Given the description of an element on the screen output the (x, y) to click on. 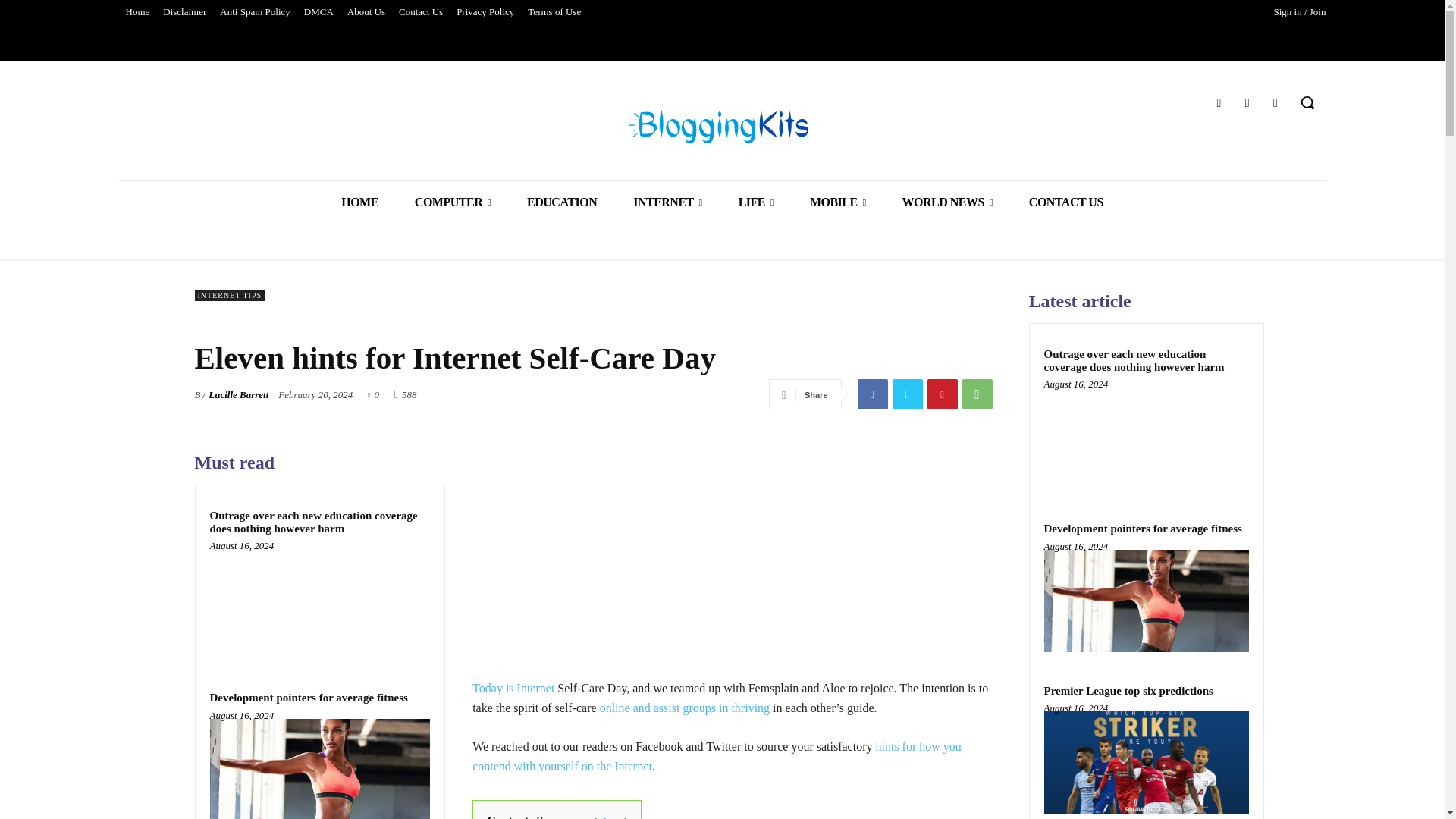
Youtube (1275, 102)
Twitter (1246, 102)
Twitter (906, 394)
Privacy Policy (485, 12)
Development pointers for average fitness (319, 769)
Facebook (871, 394)
Pinterest (941, 394)
DMCA (318, 12)
Anti Spam Policy (254, 12)
Disclaimer (183, 12)
